Given the description of an element on the screen output the (x, y) to click on. 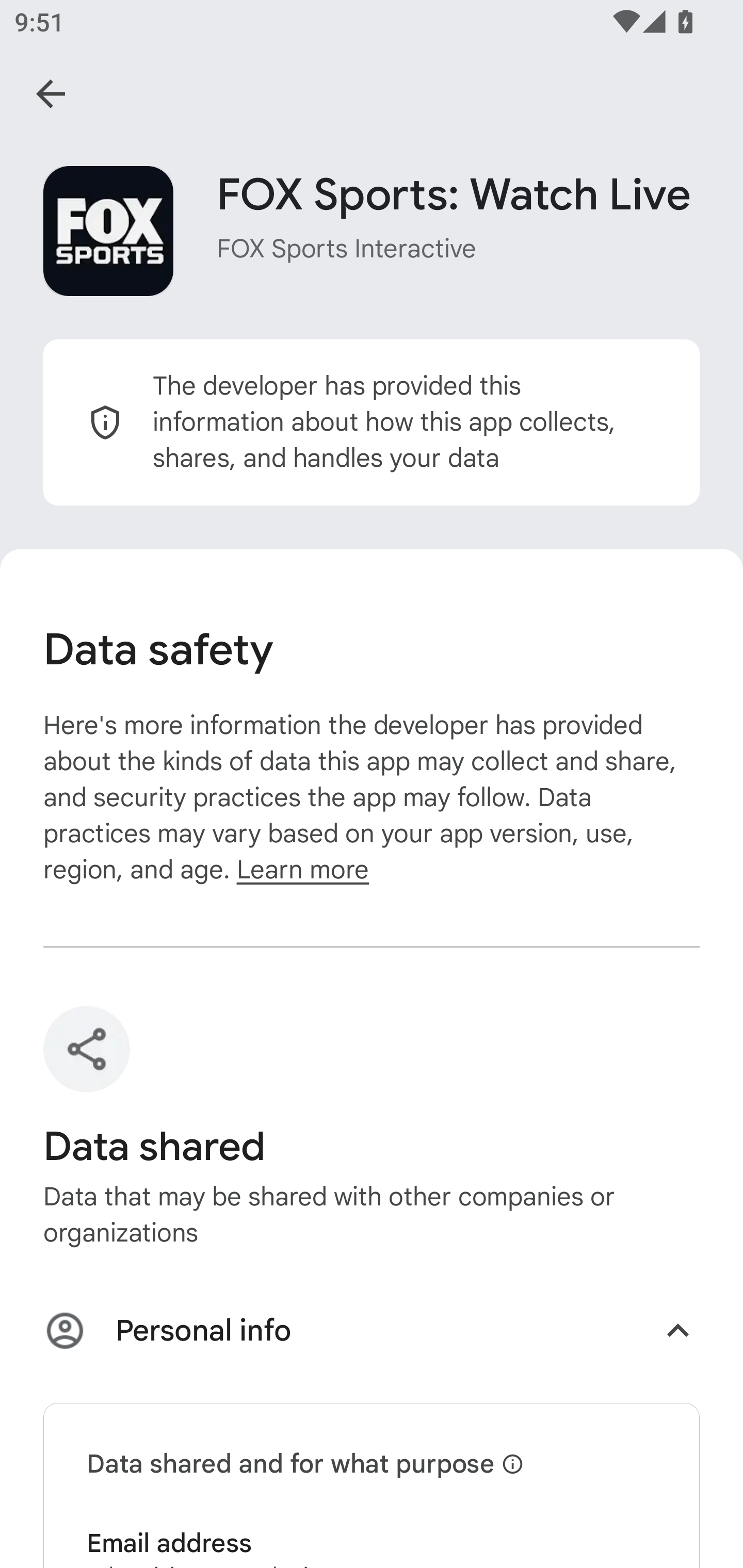
Navigate up (50, 93)
heading Personal info Collapse button (371, 1334)
